Given the description of an element on the screen output the (x, y) to click on. 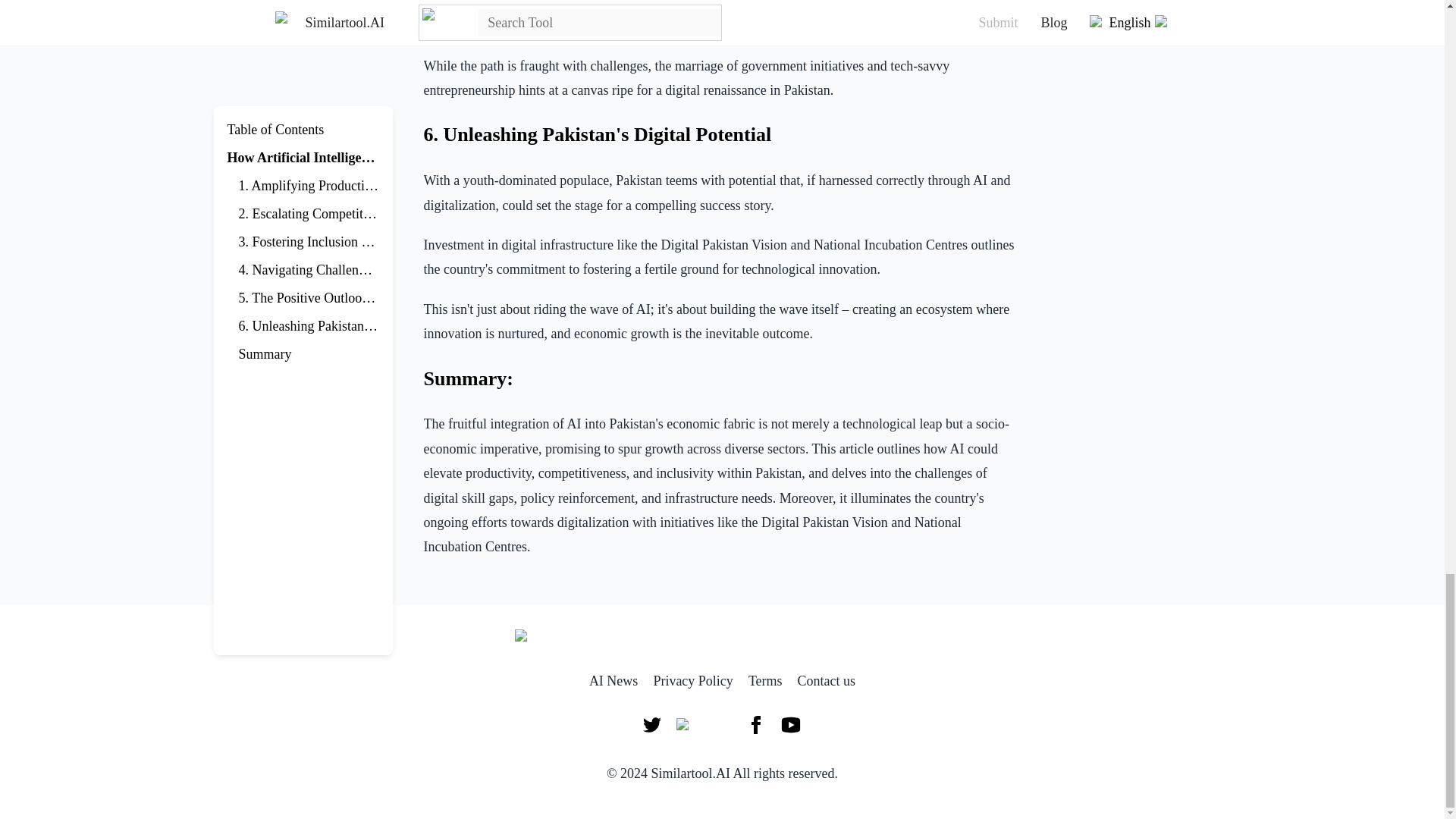
Contact us (826, 680)
Terms (765, 680)
AI News (614, 680)
Privacy Policy (692, 680)
